Given the description of an element on the screen output the (x, y) to click on. 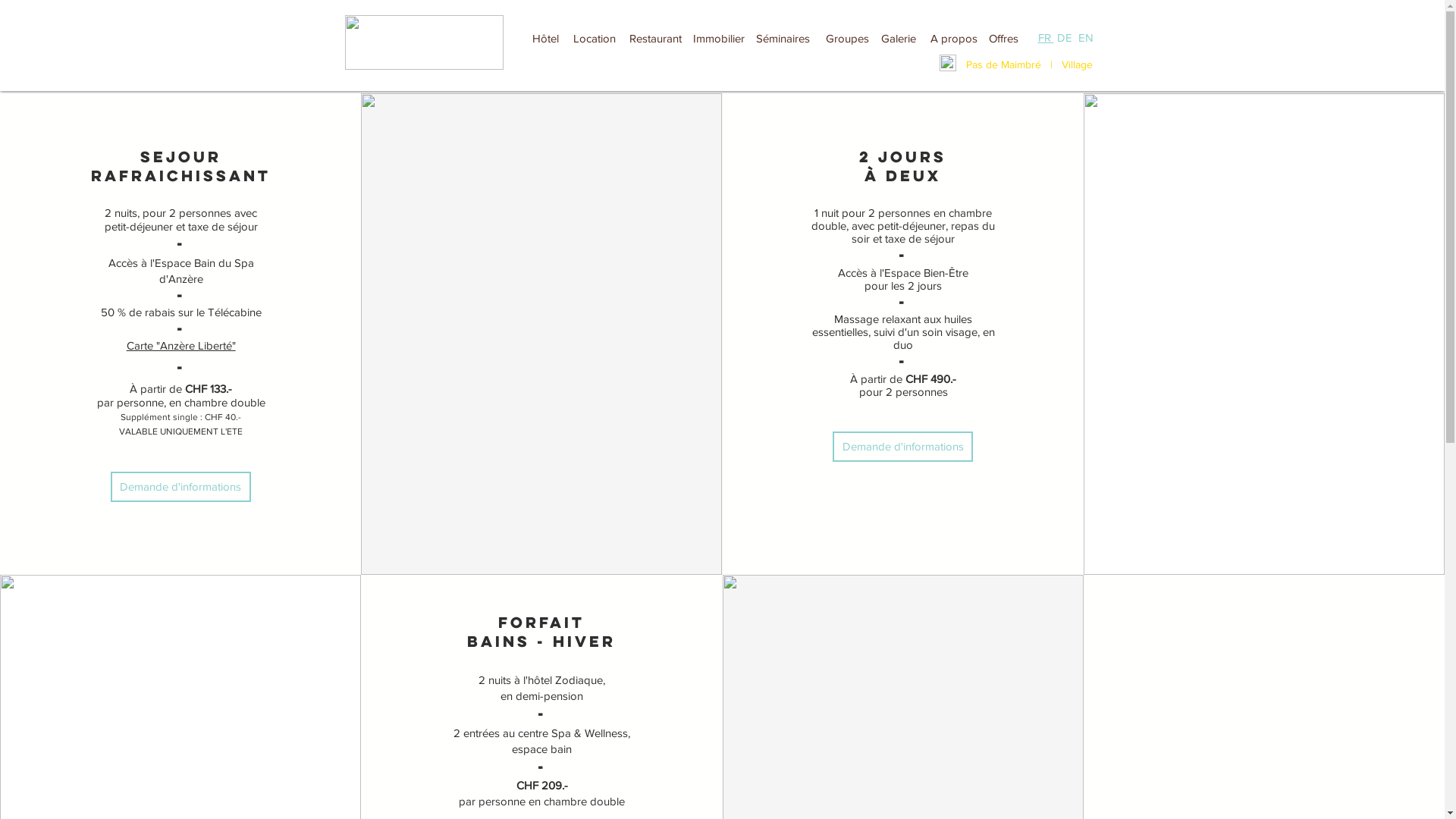
Immobilier Element type: text (718, 37)
Demande d'informations Element type: text (180, 486)
Village Element type: text (1076, 64)
Offres Element type: text (1002, 37)
Groupes Element type: text (847, 37)
DE Element type: text (1064, 37)
A propos Element type: text (952, 37)
Restaurant Element type: text (655, 37)
EN Element type: text (1085, 37)
FR  Element type: text (1045, 37)
Location Element type: text (594, 37)
Galerie Element type: text (897, 37)
Demande d'informations Element type: text (902, 445)
view(1).png Element type: hover (946, 62)
